Given the description of an element on the screen output the (x, y) to click on. 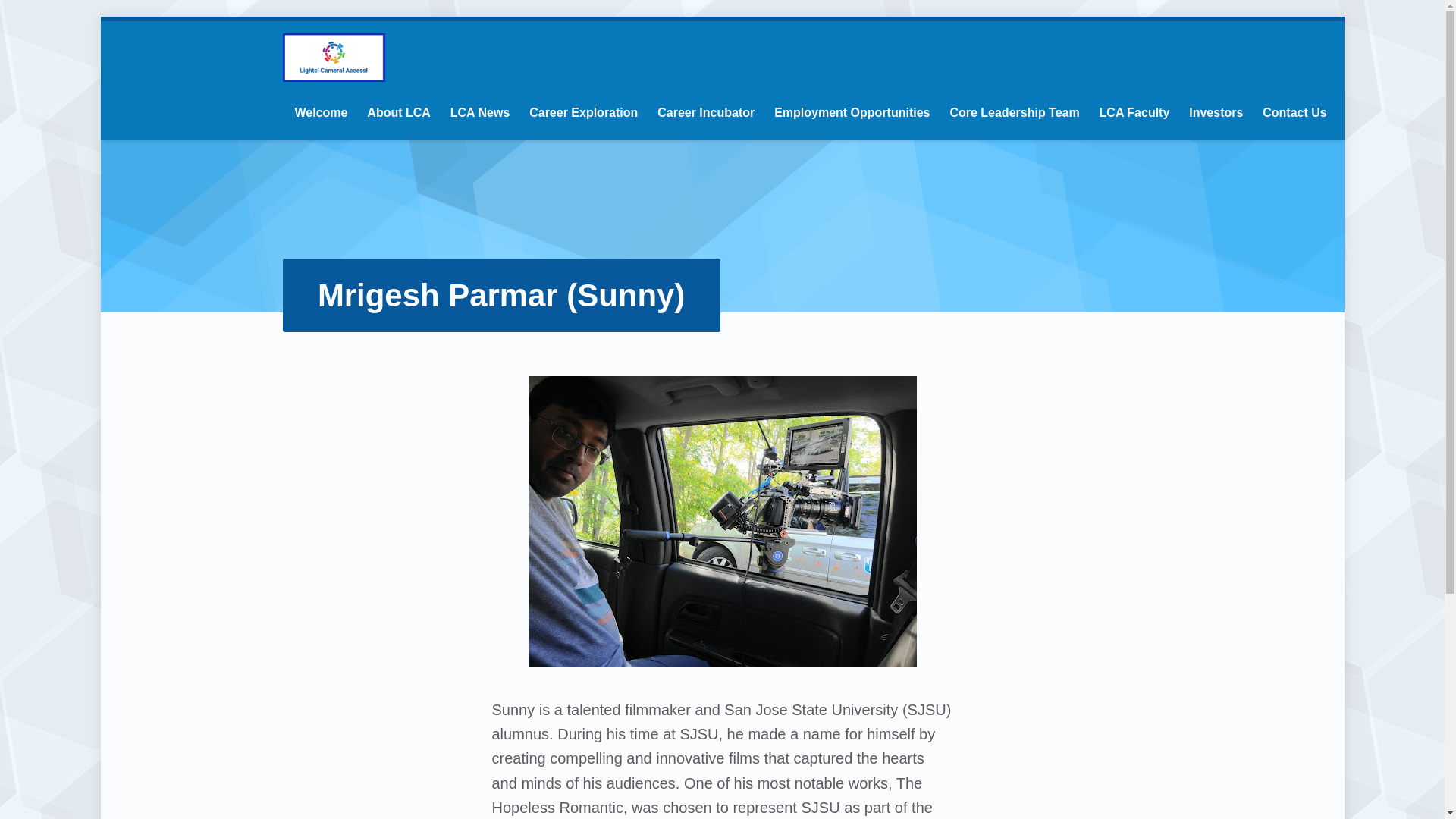
About LCA (398, 112)
Sunny (721, 521)
Career Exploration (583, 112)
Contact Us (1294, 112)
Career Incubator (706, 112)
LCA Faculty (1134, 112)
Welcome (320, 112)
LCA News (480, 112)
Core Leadership Team (1013, 112)
Employment Opportunities (852, 112)
Investors (1216, 112)
